Given the description of an element on the screen output the (x, y) to click on. 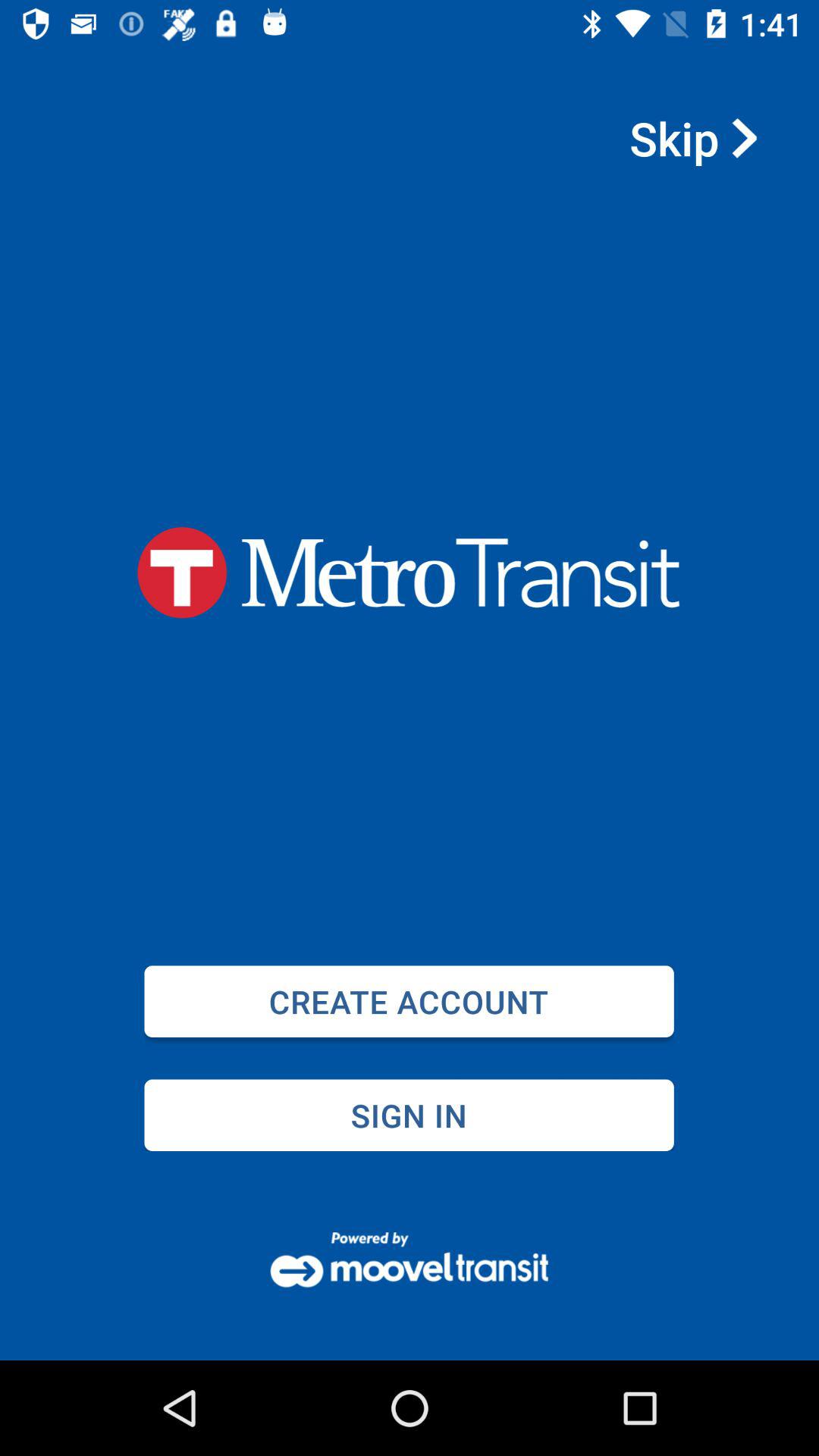
select create account (408, 1001)
